Given the description of an element on the screen output the (x, y) to click on. 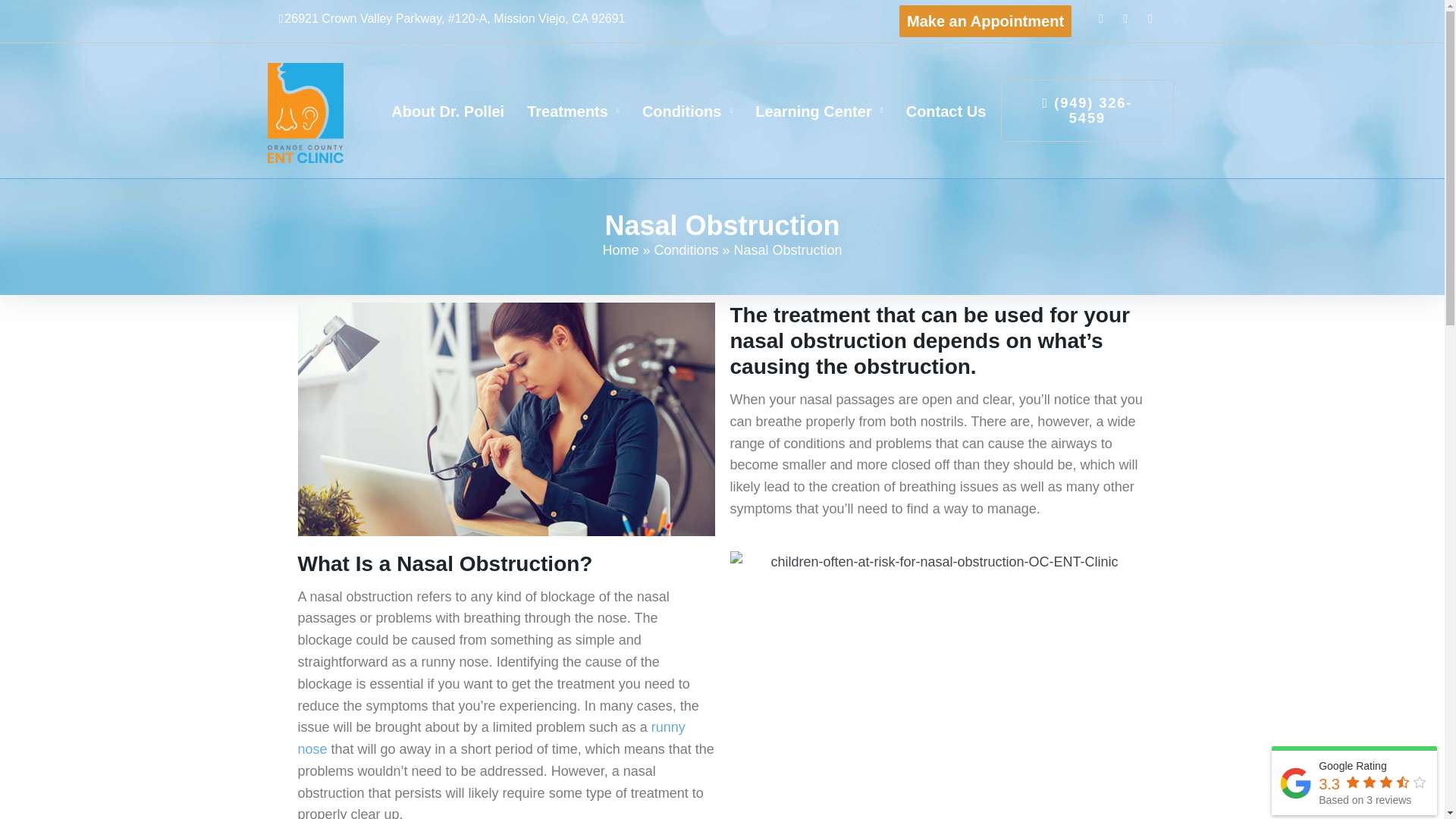
Treatments (573, 111)
About Dr. Pollei (447, 111)
Make an Appointment (985, 20)
Conditions (687, 111)
